Given the description of an element on the screen output the (x, y) to click on. 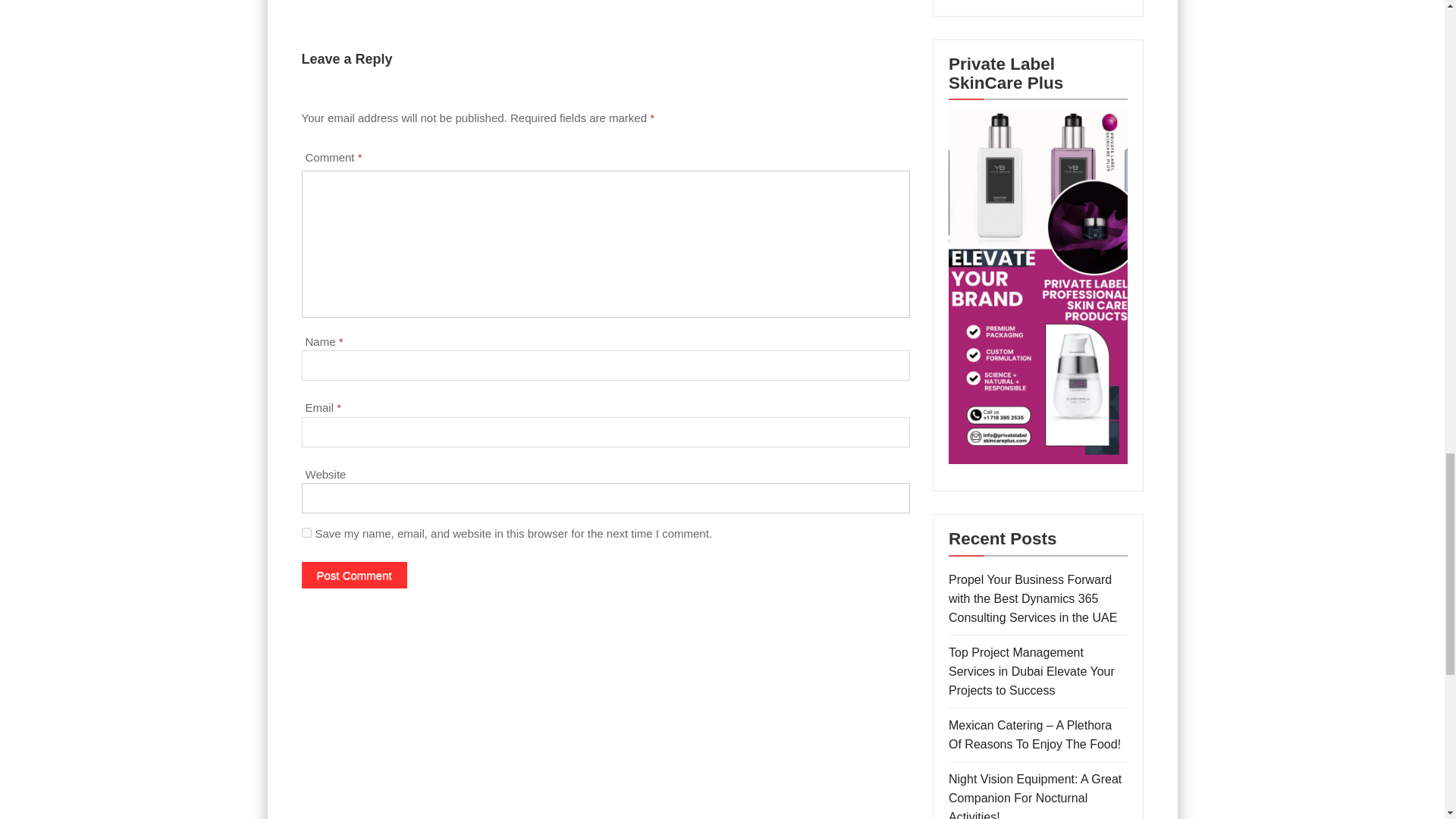
yes (306, 532)
Post Comment (354, 574)
